Given the description of an element on the screen output the (x, y) to click on. 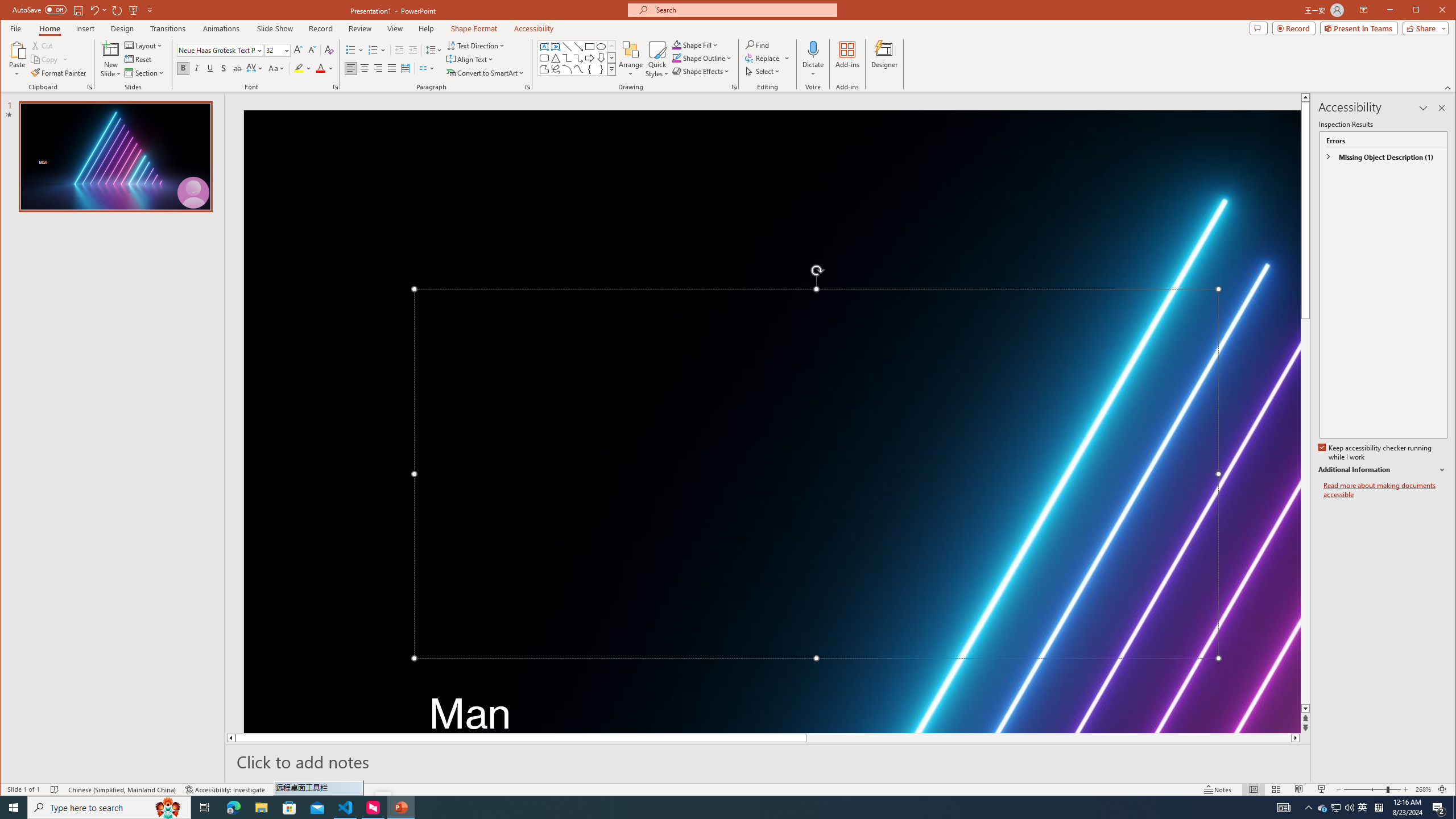
Zoom 268% (1422, 789)
